Given the description of an element on the screen output the (x, y) to click on. 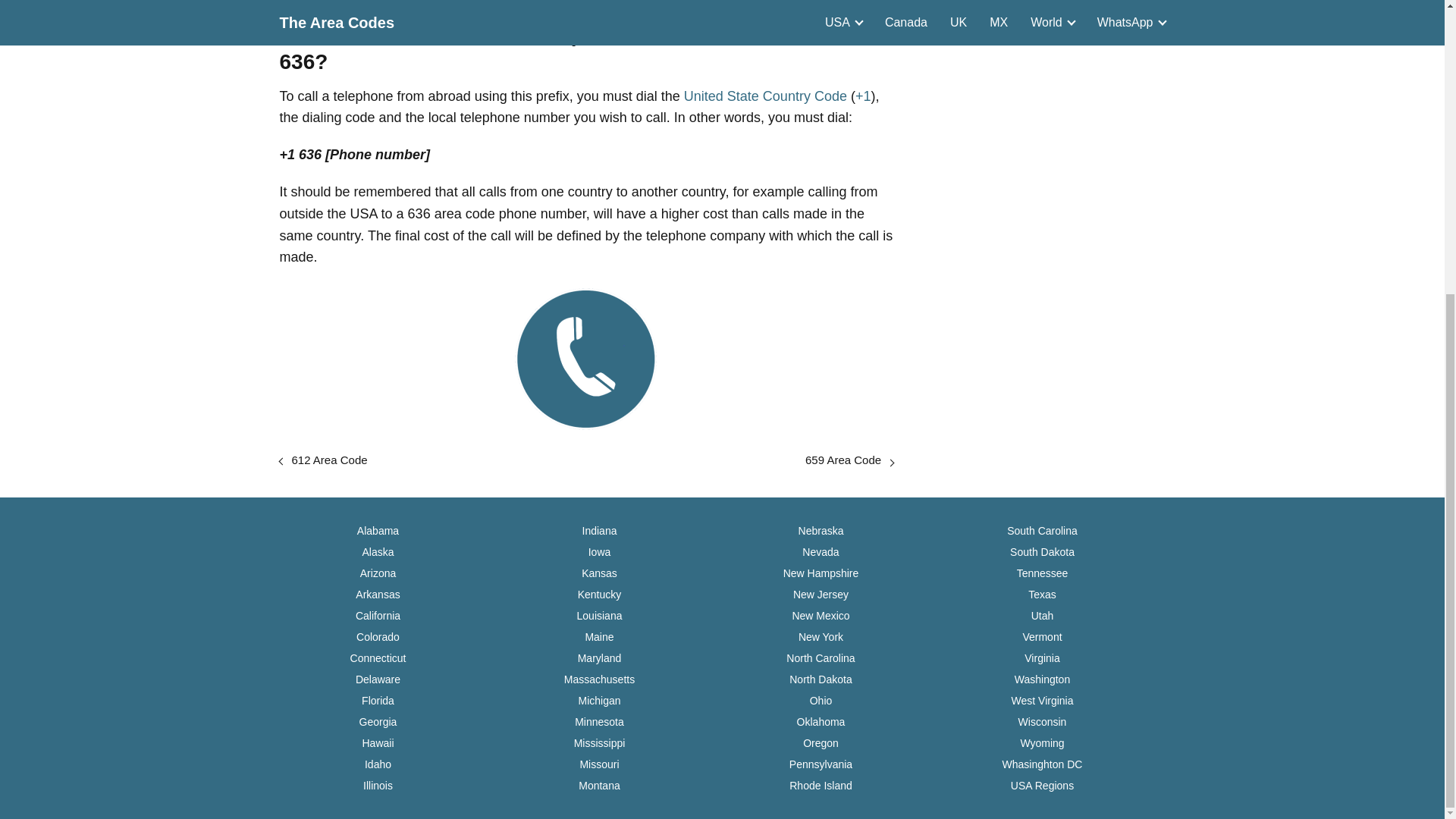
Iowa (599, 551)
Indiana (599, 530)
Alabama (377, 530)
Kansas (598, 573)
636 Area Code (586, 358)
612 Area Code (328, 459)
Illinois (377, 785)
Connecticut (378, 657)
Colorado (377, 636)
Florida (377, 700)
California (377, 615)
United State Country Code (765, 96)
Hawaii (377, 743)
659 Area Code (842, 459)
Alaska (377, 551)
